Given the description of an element on the screen output the (x, y) to click on. 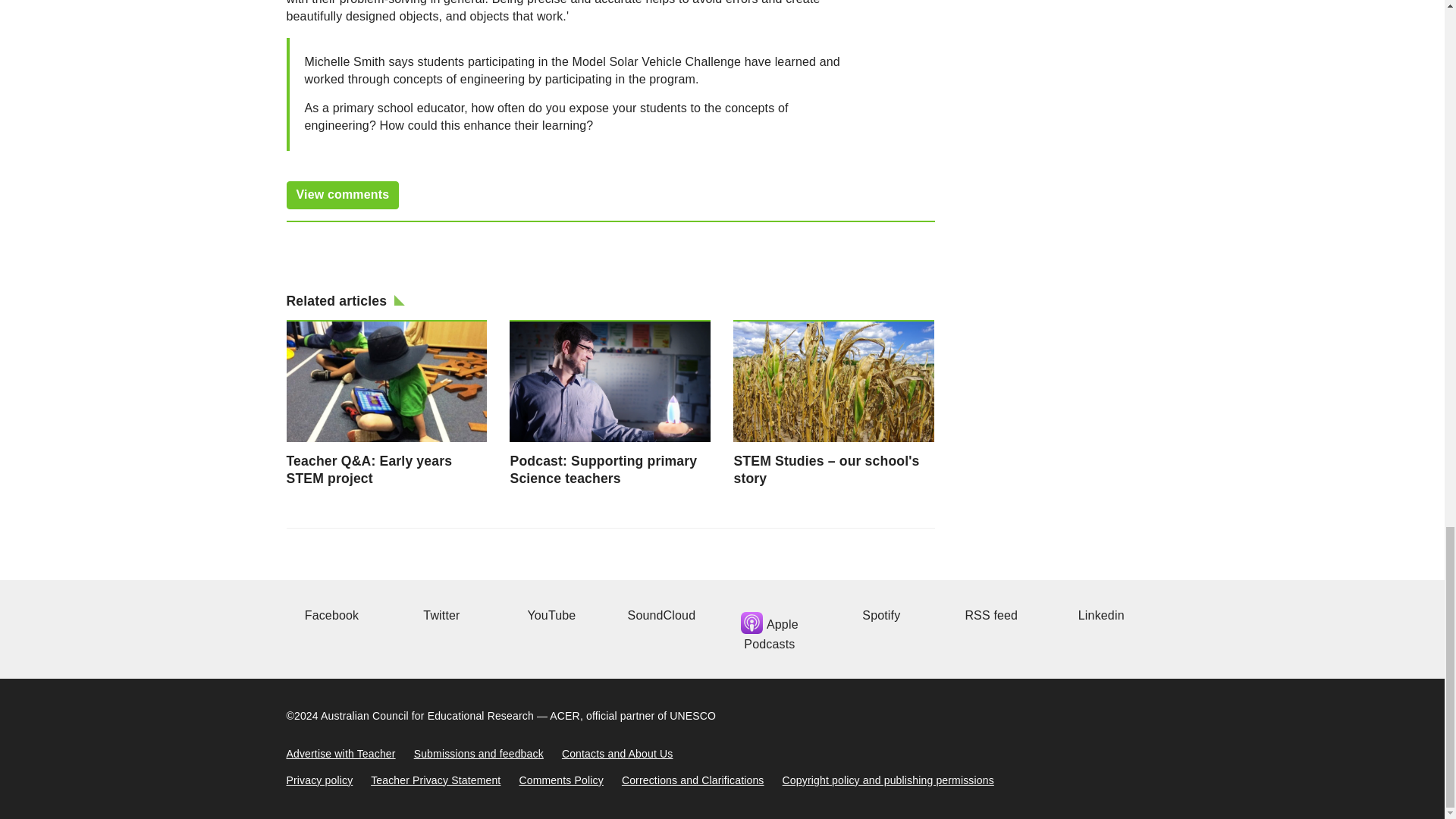
Australian Council for Educational Research (427, 715)
Teacher on Facebook (330, 615)
Teacher on Spotify (879, 615)
Podcast: Supporting primary Science teachers (609, 402)
Teacher on SoundCloud (659, 615)
View comments (342, 194)
Teacher RSS (988, 615)
Teacher on YouTube (548, 615)
Teacher on Apple Podcasts (769, 628)
Teacher Linkedin (1099, 615)
Teacher on Twitter (439, 615)
